Given the description of an element on the screen output the (x, y) to click on. 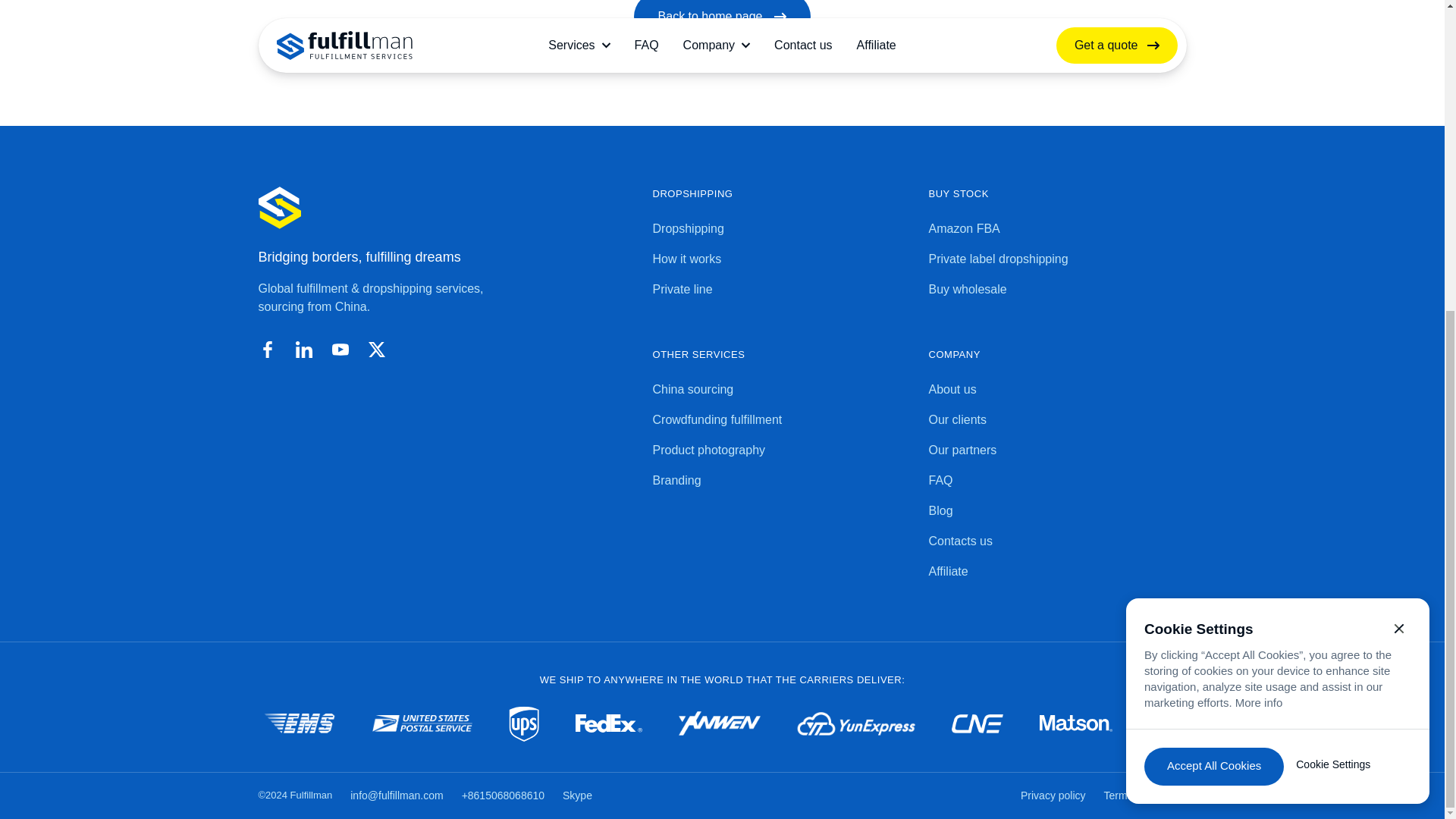
Amazon FBA (1057, 229)
Private line (781, 289)
FAQ (1057, 480)
Back to home page (721, 20)
Dropshipping (781, 229)
Crowdfunding fulfillment (781, 420)
Product photography (781, 450)
Our clients (1057, 420)
China sourcing (781, 389)
Buy wholesale (1057, 289)
How it works (781, 259)
Private label dropshipping (1057, 259)
About us (1057, 389)
Branding (781, 480)
Our partners (1057, 450)
